Given the description of an element on the screen output the (x, y) to click on. 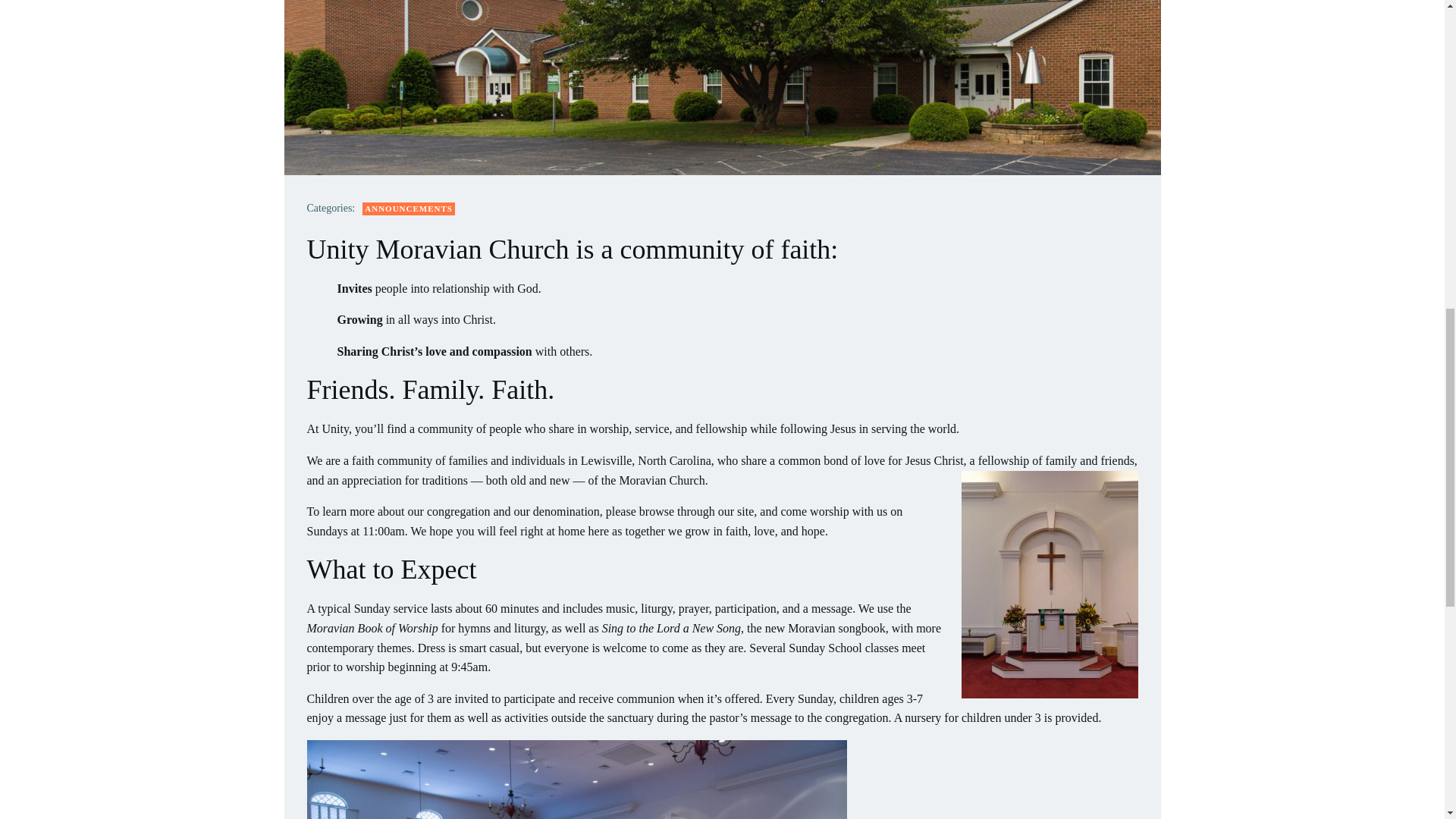
ANNOUNCEMENTS (408, 208)
